Given the description of an element on the screen output the (x, y) to click on. 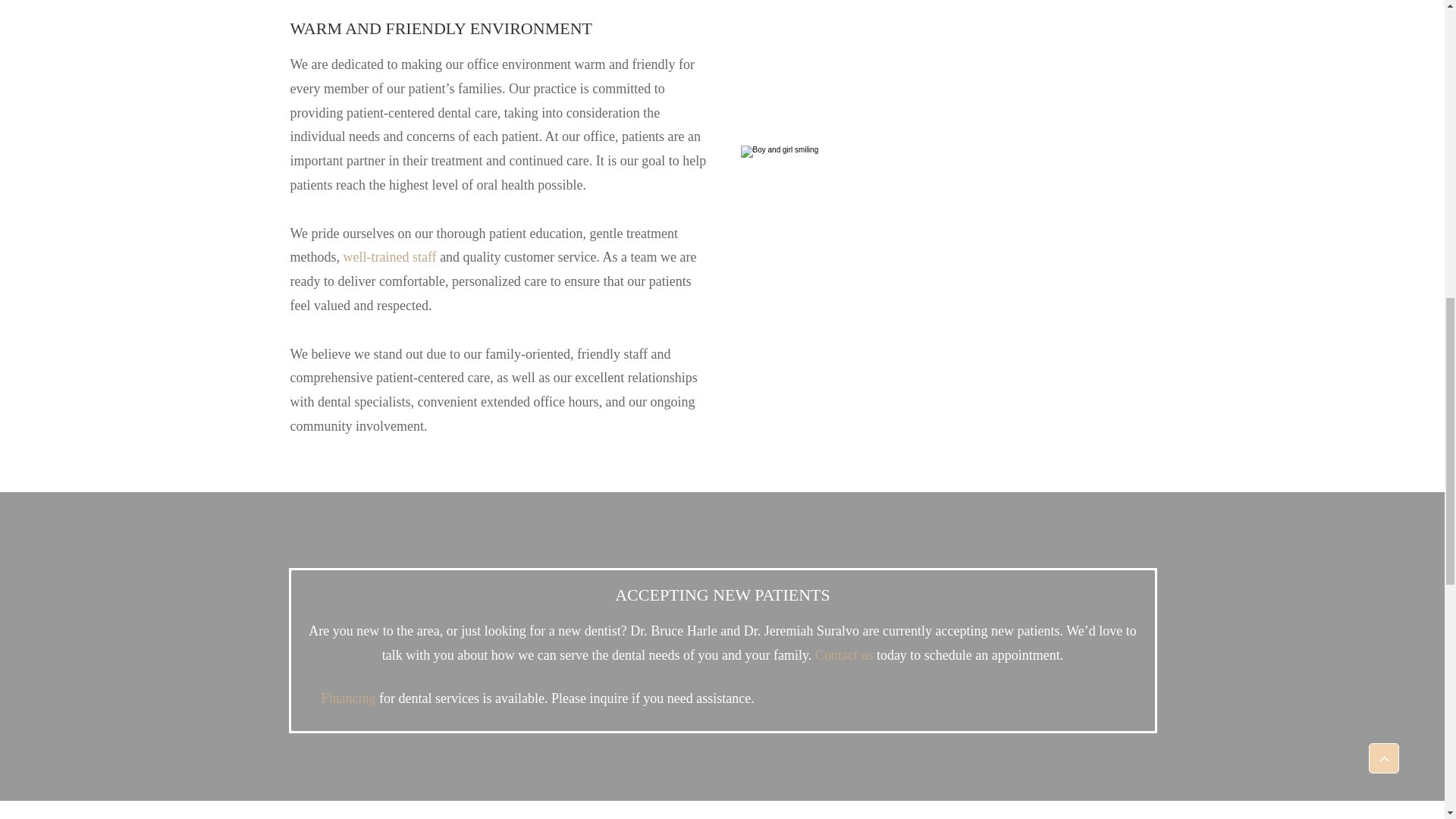
Financing (348, 698)
well-trained staff (388, 256)
Contact us (844, 654)
